Given the description of an element on the screen output the (x, y) to click on. 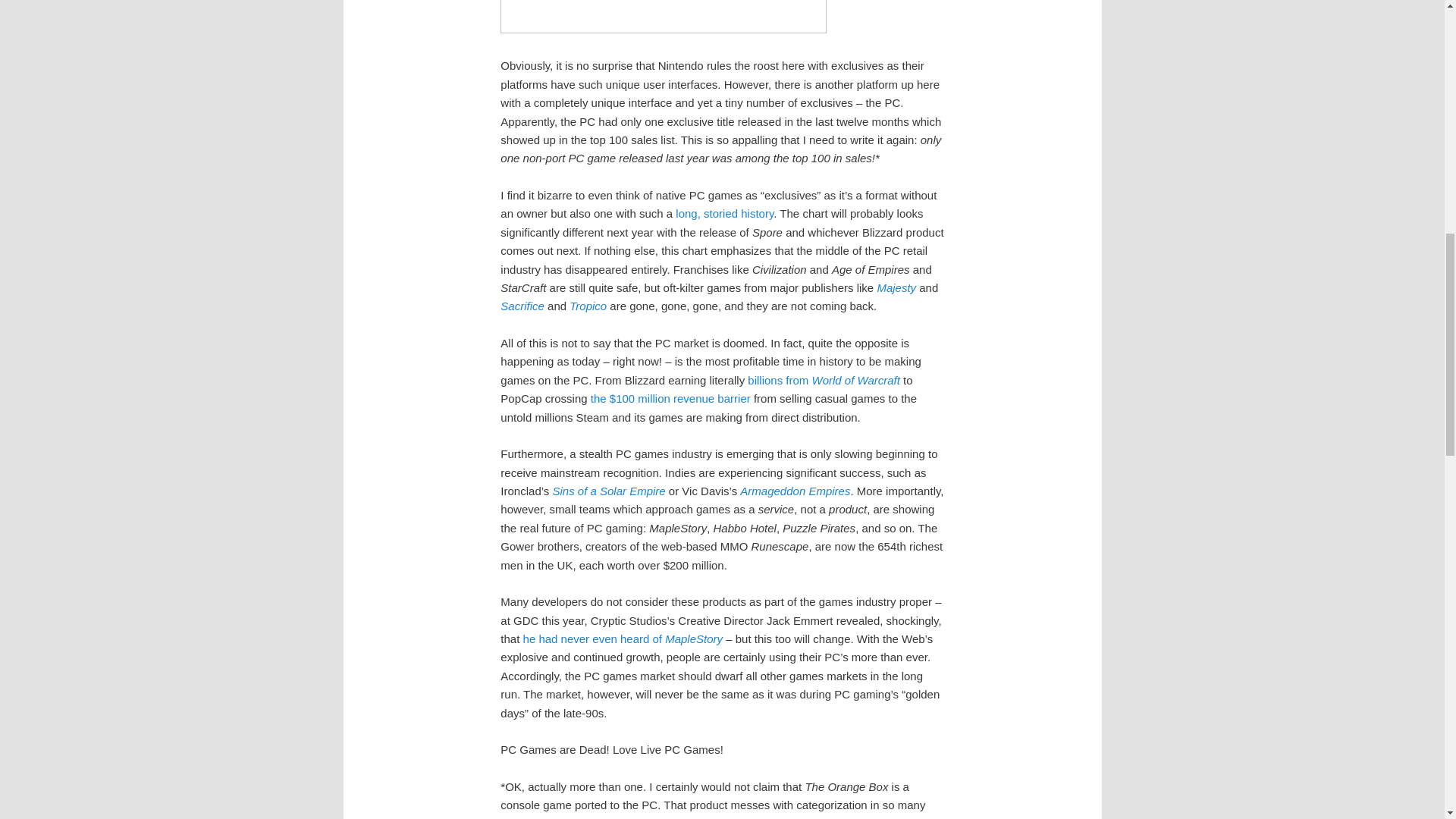
Sins of a Solar Empire (608, 490)
Tropico (588, 305)
he had never even heard of MapleStory (622, 638)
Armageddon Empires (794, 490)
billions from World of Warcraft (823, 379)
Sacrifice (522, 305)
long, storied history (724, 213)
Majesty (895, 287)
